Given the description of an element on the screen output the (x, y) to click on. 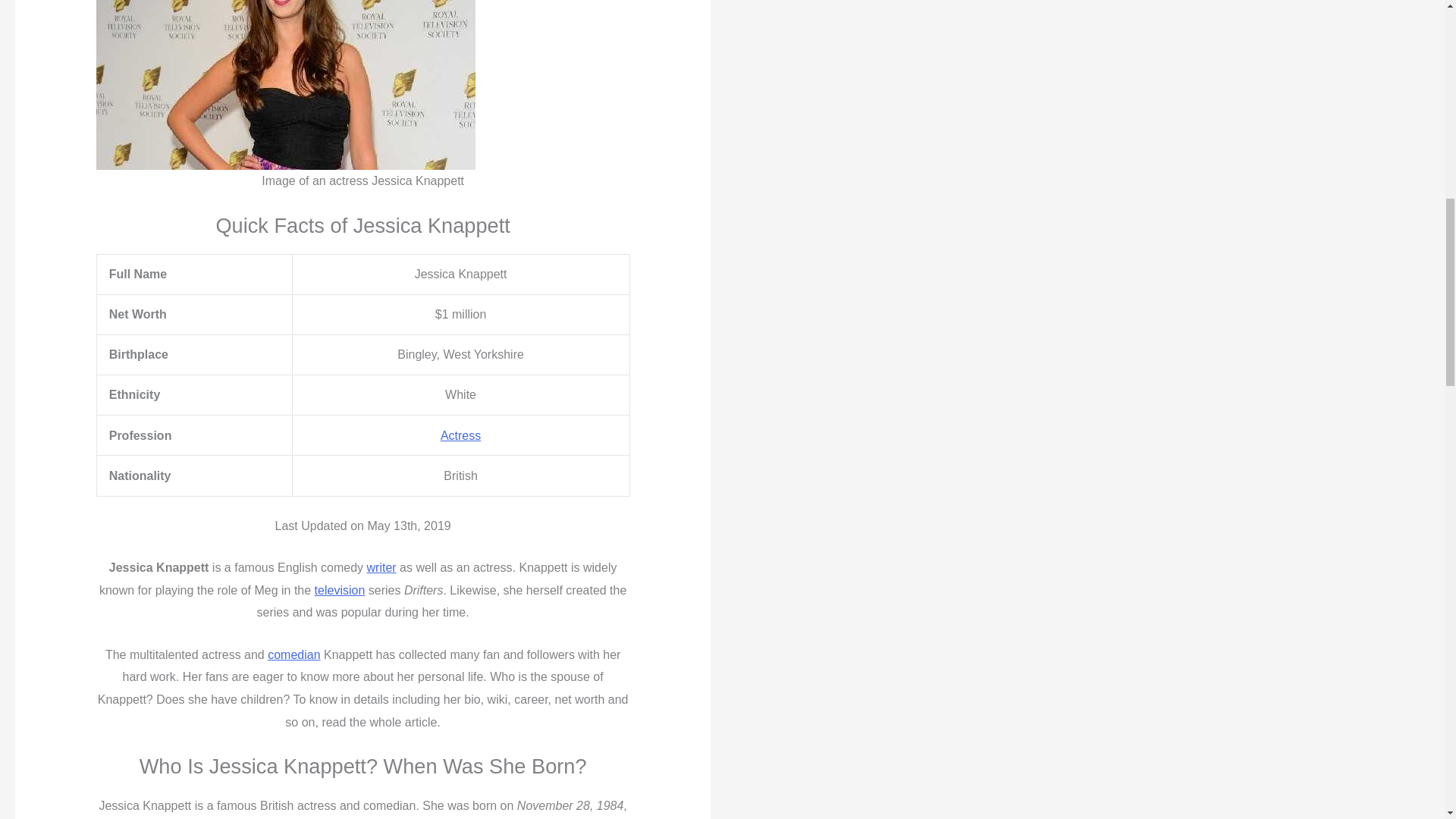
comedian (293, 654)
writer (381, 567)
Actress (460, 435)
television (339, 590)
writer (381, 567)
jessica-knappett-6b828644e170a61d94b97c2f54cce717addf069b (286, 84)
comedian (293, 654)
television (339, 590)
Actress (460, 435)
